Given the description of an element on the screen output the (x, y) to click on. 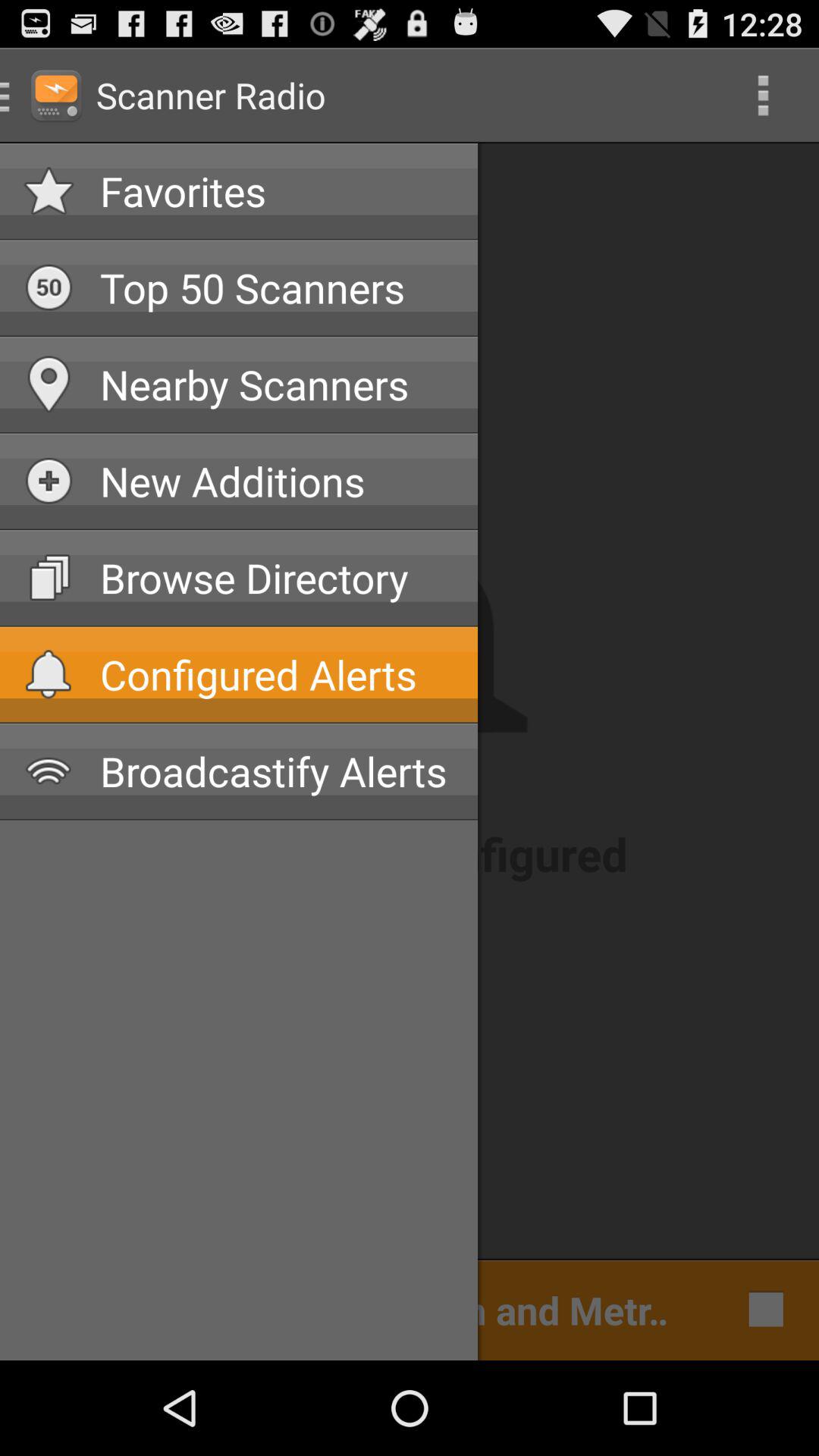
launch icon next to cleveland police dispatch (762, 1309)
